Given the description of an element on the screen output the (x, y) to click on. 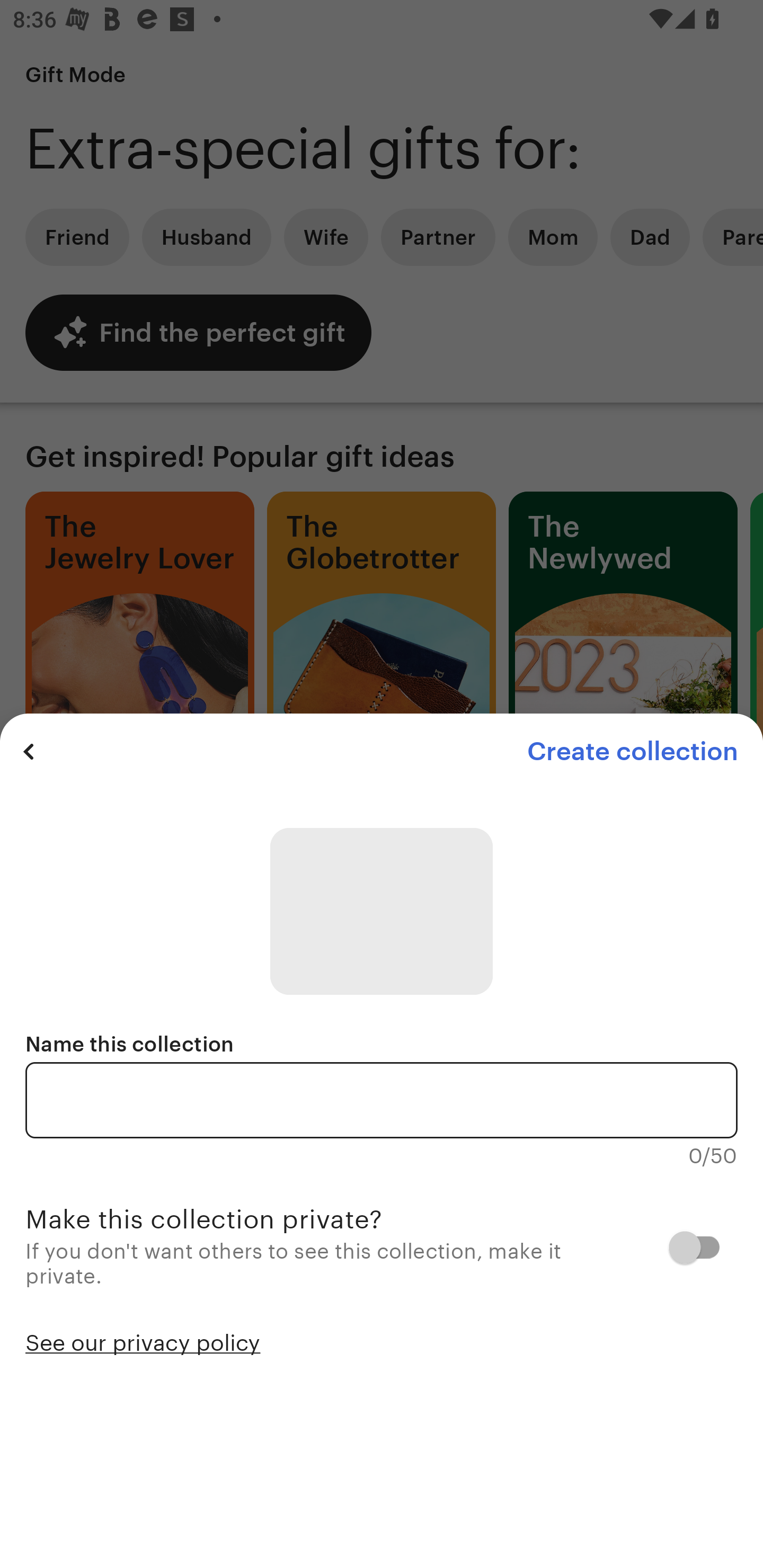
Previous (28, 751)
Create collection (632, 751)
See our privacy policy (142, 1341)
